Given the description of an element on the screen output the (x, y) to click on. 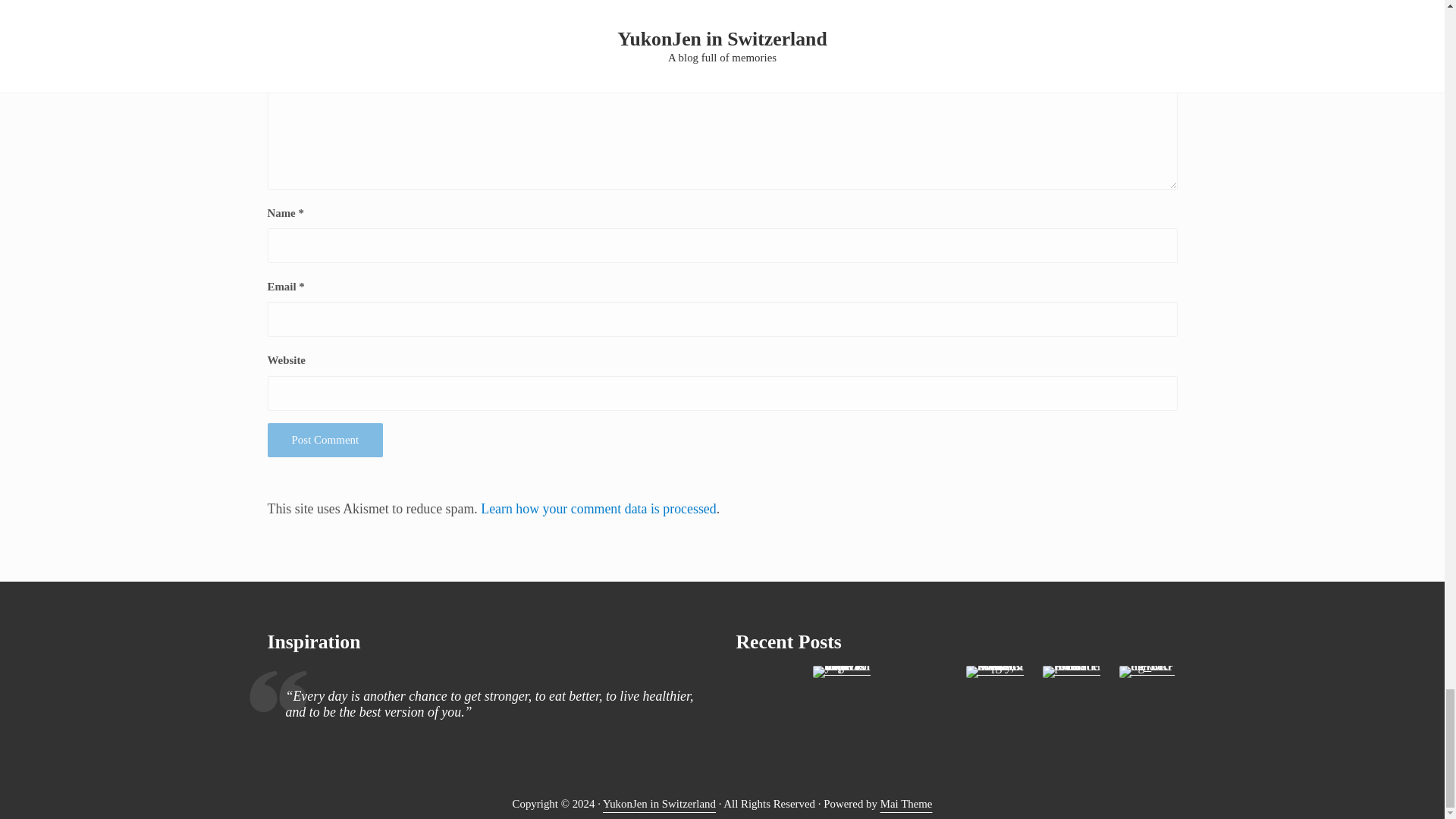
Post Comment (324, 440)
